Given the description of an element on the screen output the (x, y) to click on. 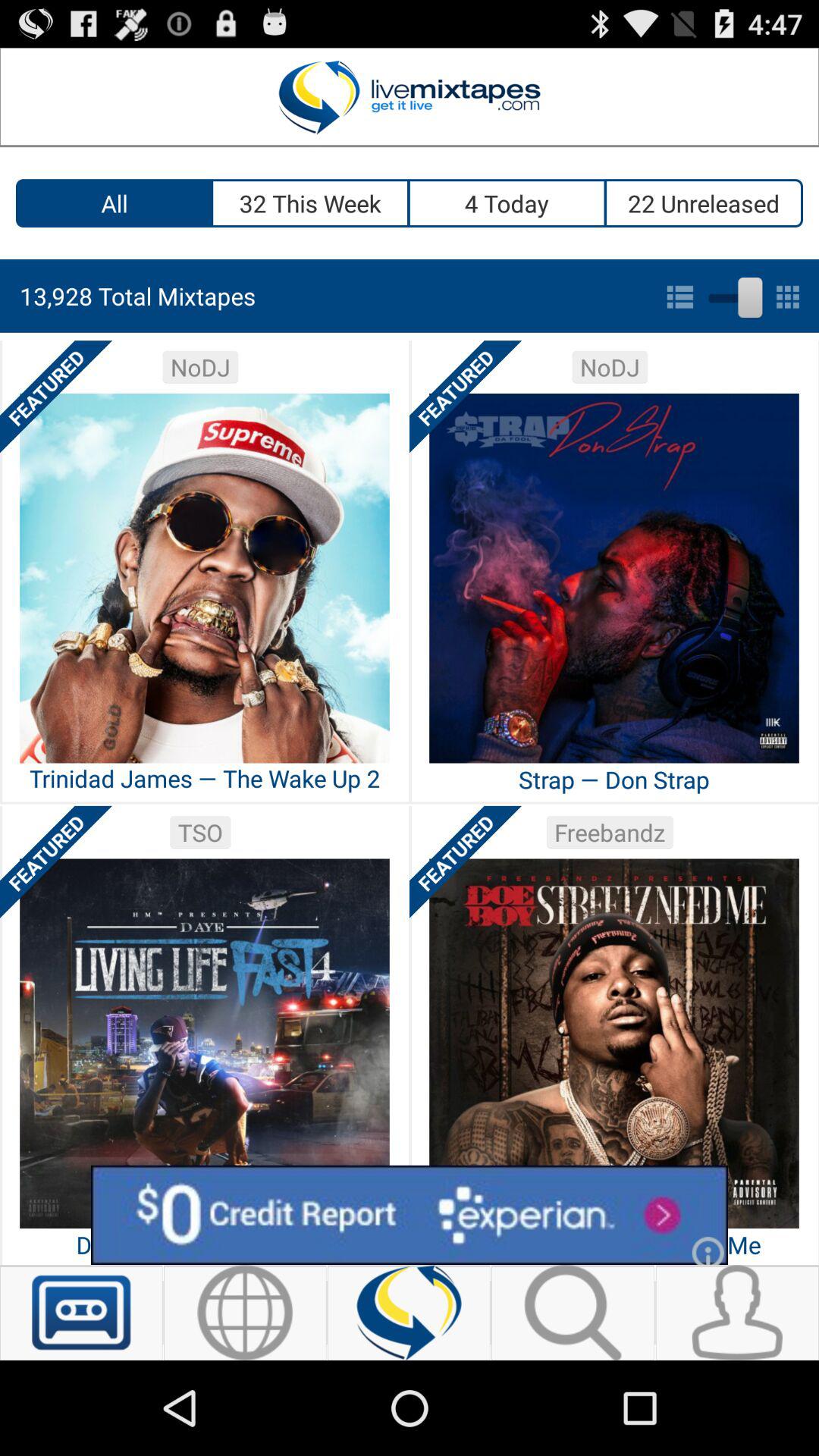
click icon to the right of the all (310, 203)
